Given the description of an element on the screen output the (x, y) to click on. 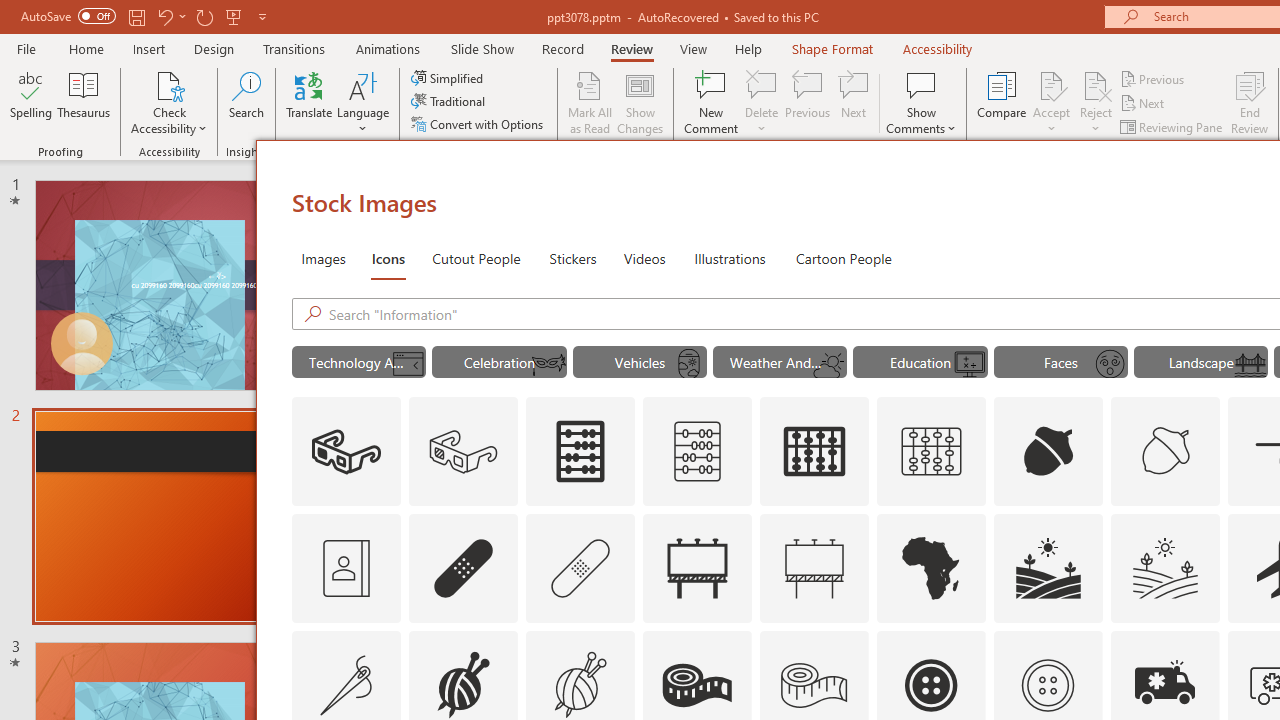
"Technology And Electronics" Icons. (358, 362)
"Weather And Seasons" Icons. (779, 362)
Illustrations (729, 258)
AutomationID: Icons_Agriculture (1048, 568)
"Celebration" Icons. (499, 362)
